Given the description of an element on the screen output the (x, y) to click on. 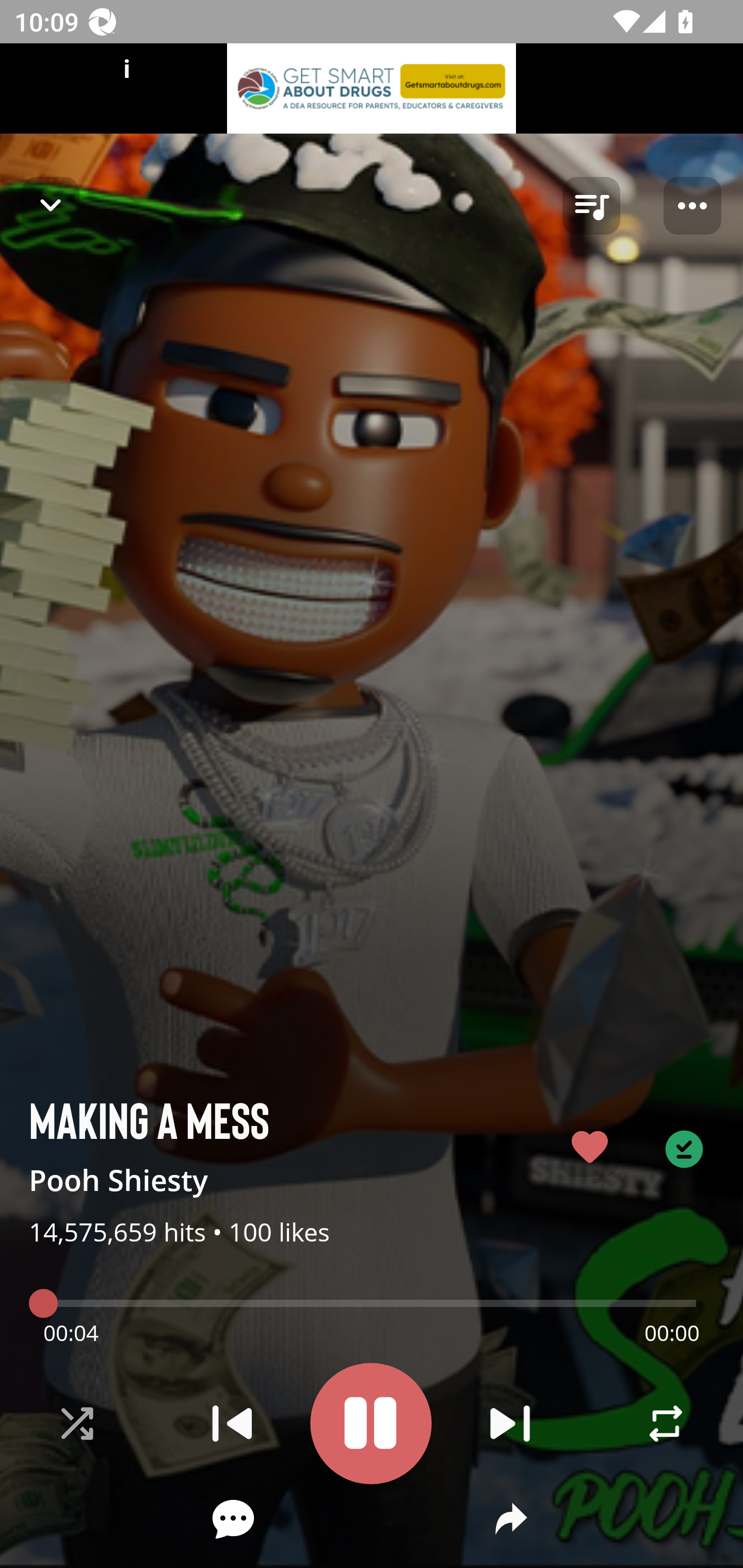
Navigate up (50, 205)
queue (590, 206)
Player options (692, 206)
